Given the description of an element on the screen output the (x, y) to click on. 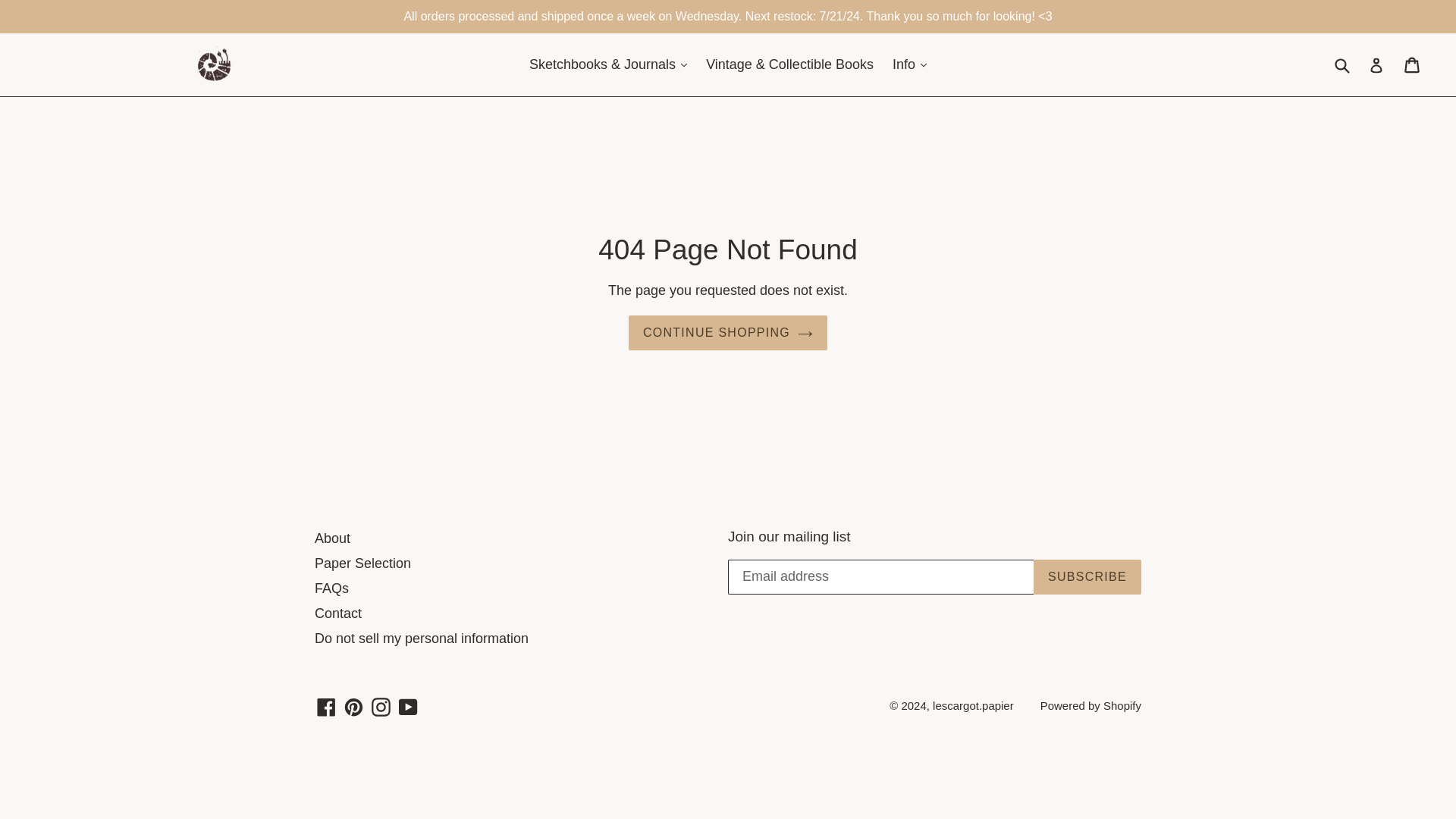
lescargot.papier on YouTube (408, 706)
lescargot.papier on Facebook (325, 706)
CONTINUE SHOPPING (727, 332)
lescargot.papier on Instagram (381, 706)
lescargot.papier on Pinterest (353, 706)
